Given the description of an element on the screen output the (x, y) to click on. 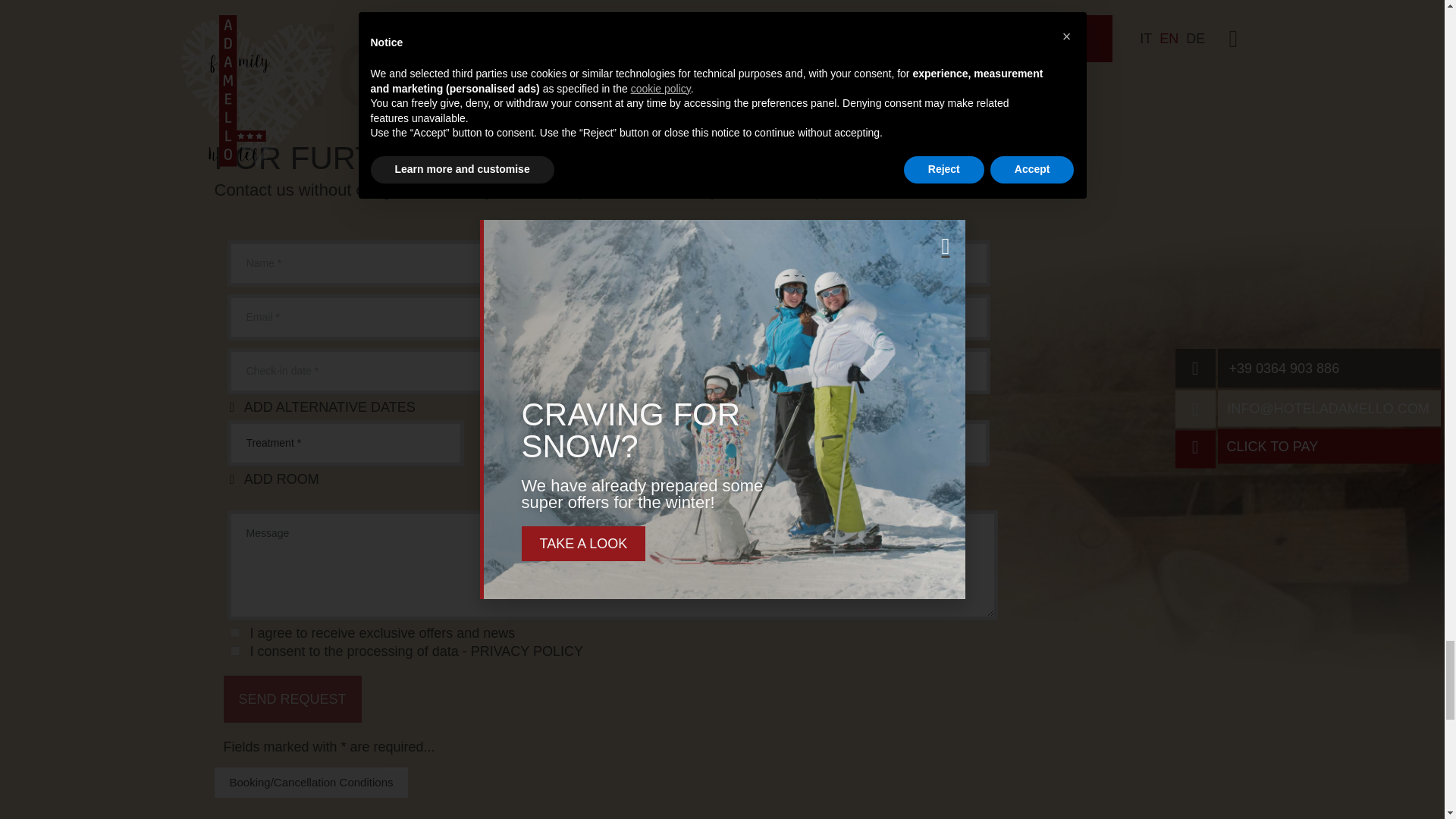
on (235, 651)
on (235, 633)
Privacy Policy (526, 651)
